Given the description of an element on the screen output the (x, y) to click on. 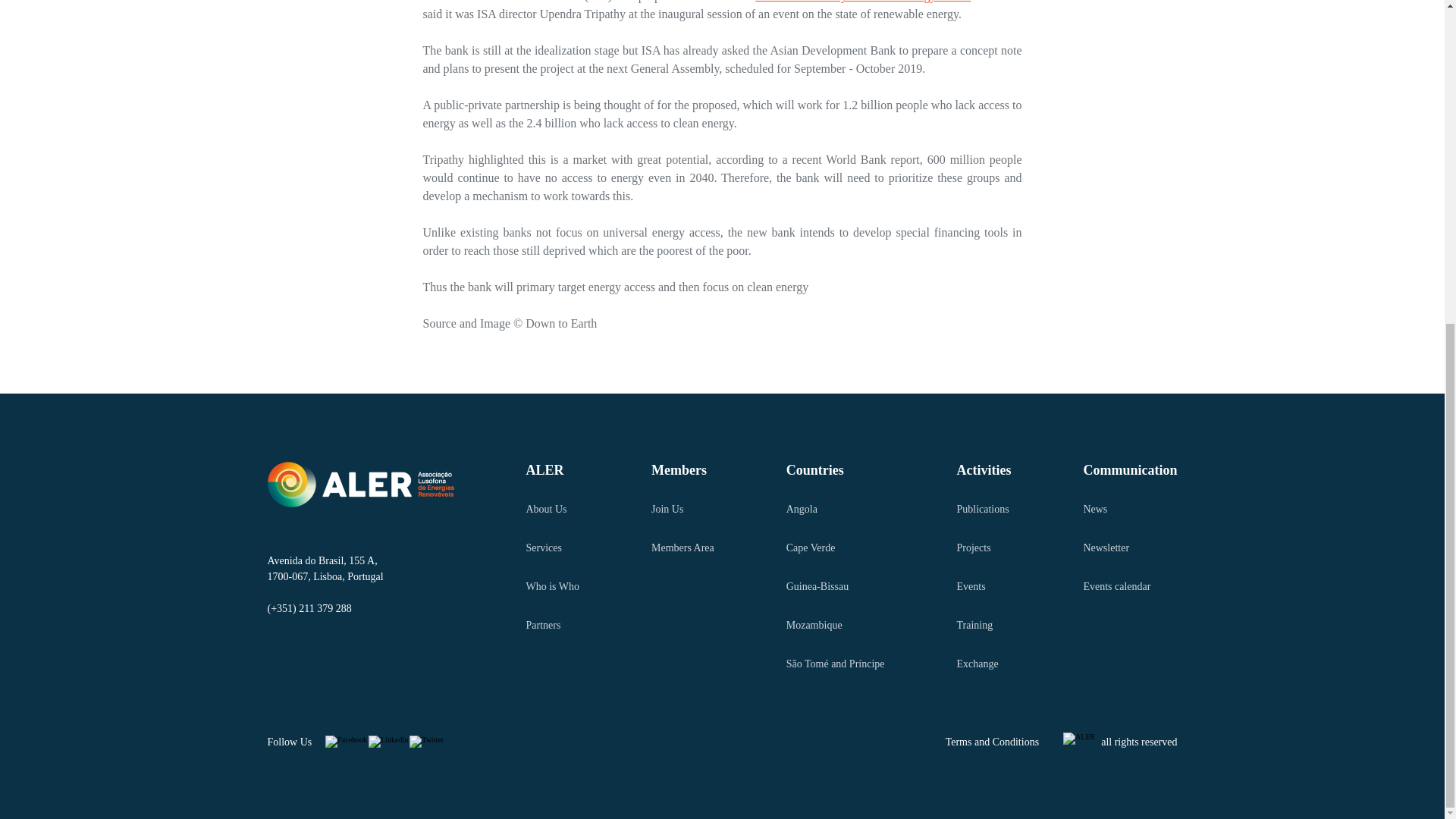
About Us (552, 508)
Who is Who (552, 586)
Facebook (345, 741)
Partners (552, 625)
Services (552, 547)
Twitter (426, 741)
ALER (552, 469)
Linkedin (387, 741)
a bank exclusively to finance energy access (863, 1)
